Given the description of an element on the screen output the (x, y) to click on. 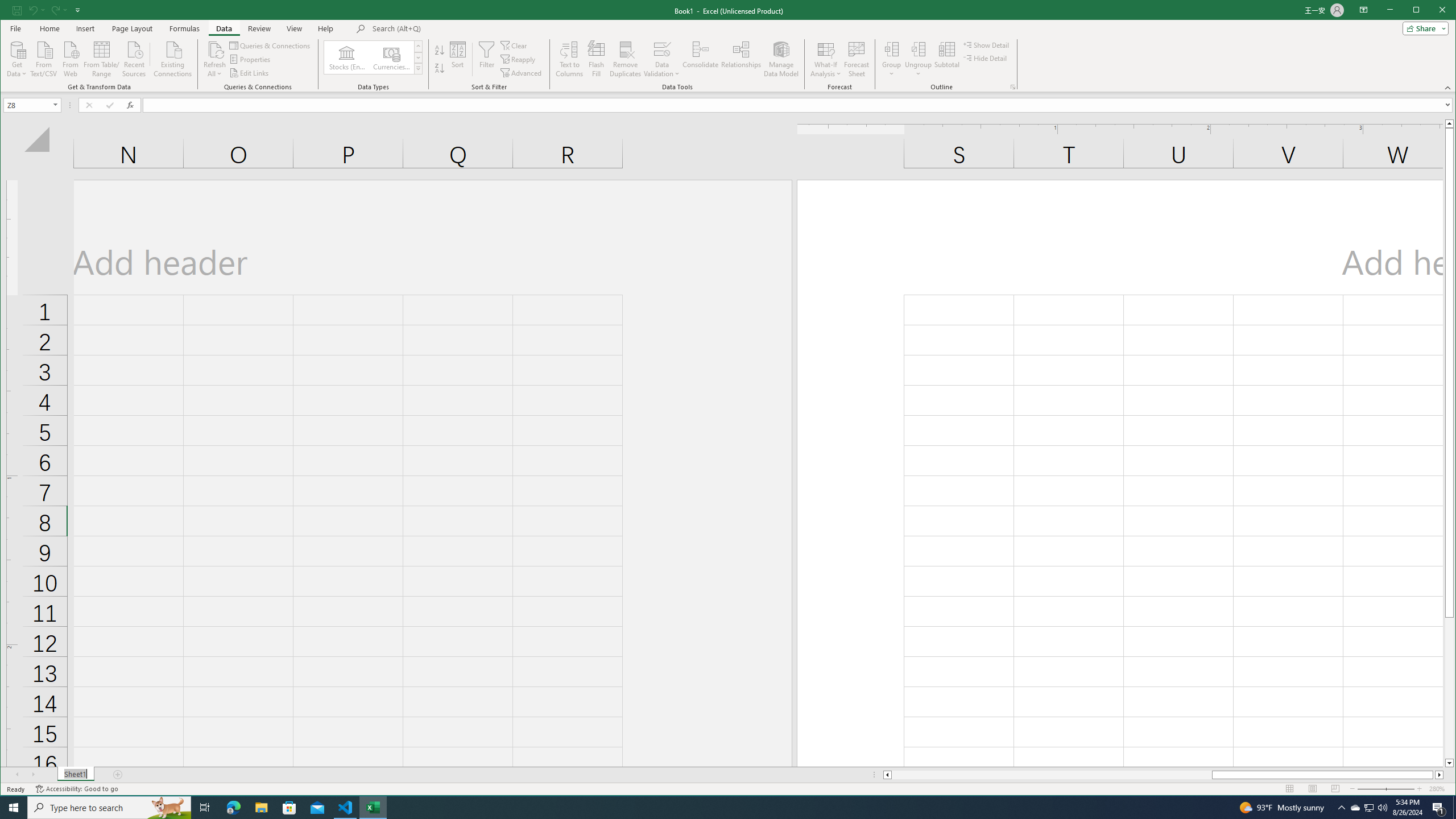
Currencies (English) (391, 57)
Start (13, 807)
Relationships (741, 59)
Scroll Right (34, 774)
Group... (891, 48)
Type here to search (108, 807)
Zoom In (1419, 788)
Notification Chevron (1341, 807)
Ribbon Display Options (1364, 9)
Row up (417, 46)
Page left (1051, 774)
File Tab (15, 27)
Reapply (518, 59)
Microsoft search (451, 28)
Subtotal (946, 59)
